Given the description of an element on the screen output the (x, y) to click on. 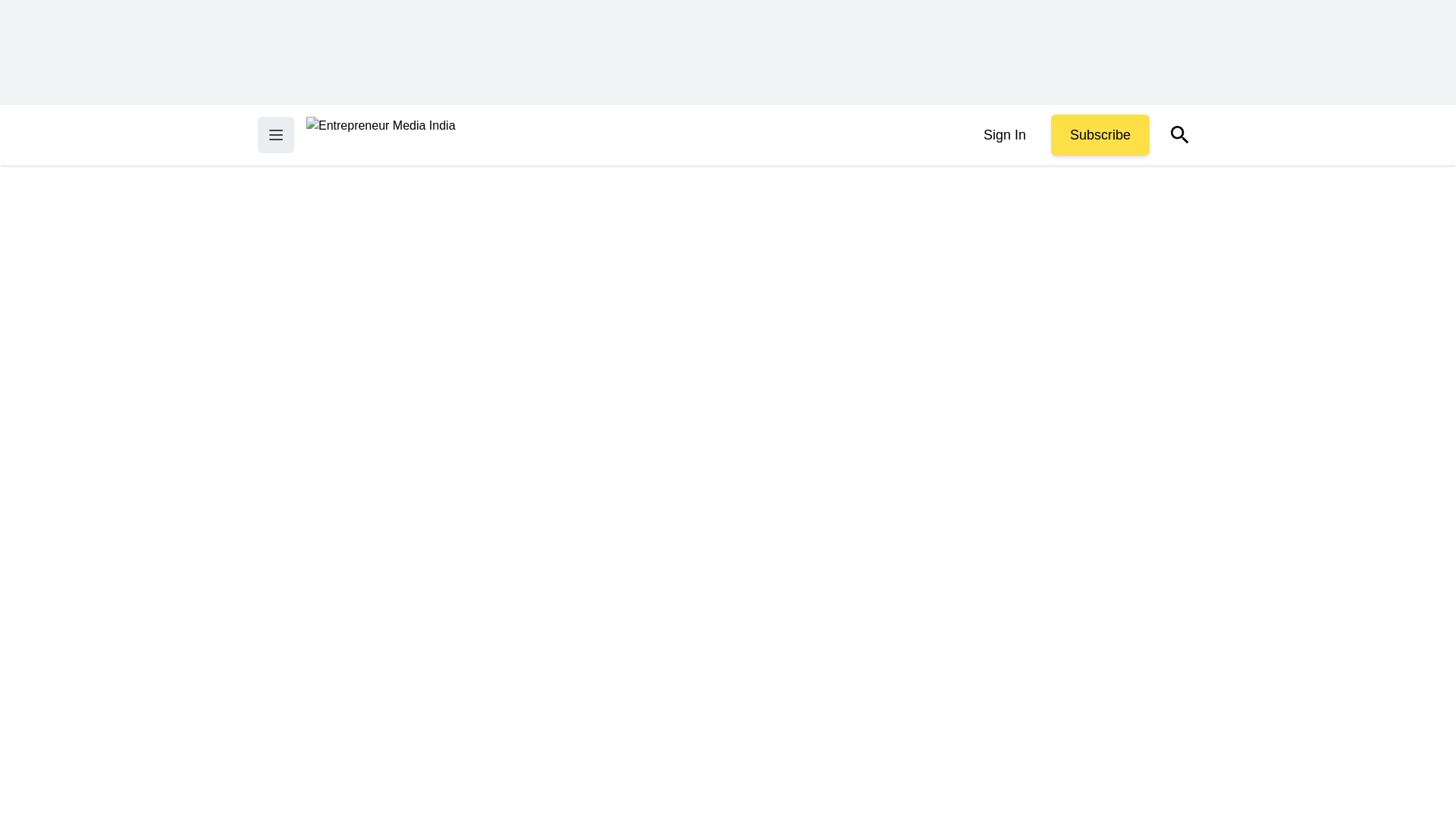
Sign In (1004, 134)
Return to the home page (380, 135)
Subscribe (1100, 134)
